Given the description of an element on the screen output the (x, y) to click on. 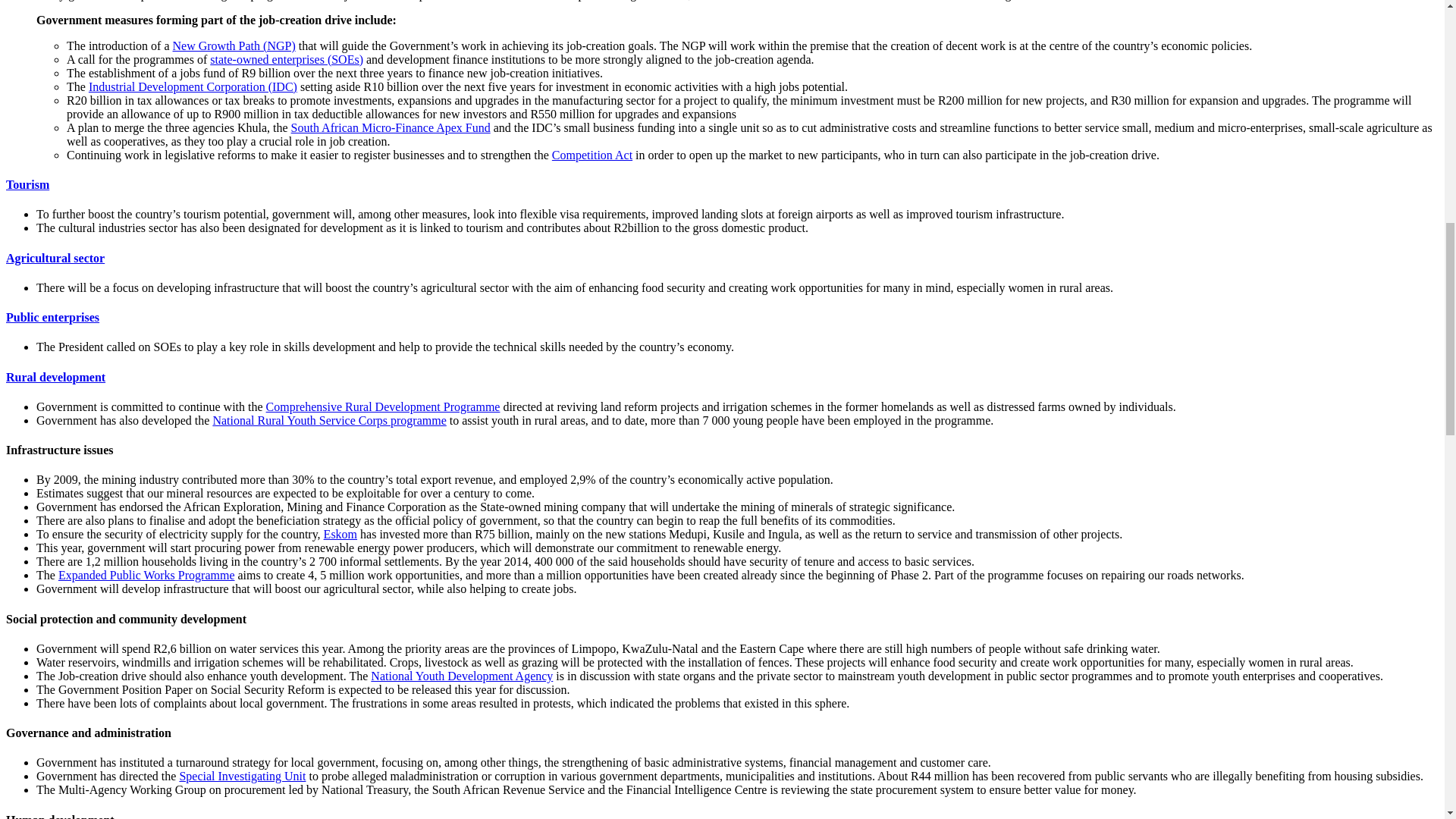
Competition Act (591, 154)
outside link - opens in a new window (328, 420)
outside link - opens in a new window (591, 154)
outside link - opens in a new window (383, 406)
outside link - opens in a new window (54, 257)
outside link - opens in a new window (285, 59)
outside link - opens in a new window (192, 86)
Tourism (27, 184)
outside link - opens in a new window (339, 533)
Agricultural sector (54, 257)
